Given the description of an element on the screen output the (x, y) to click on. 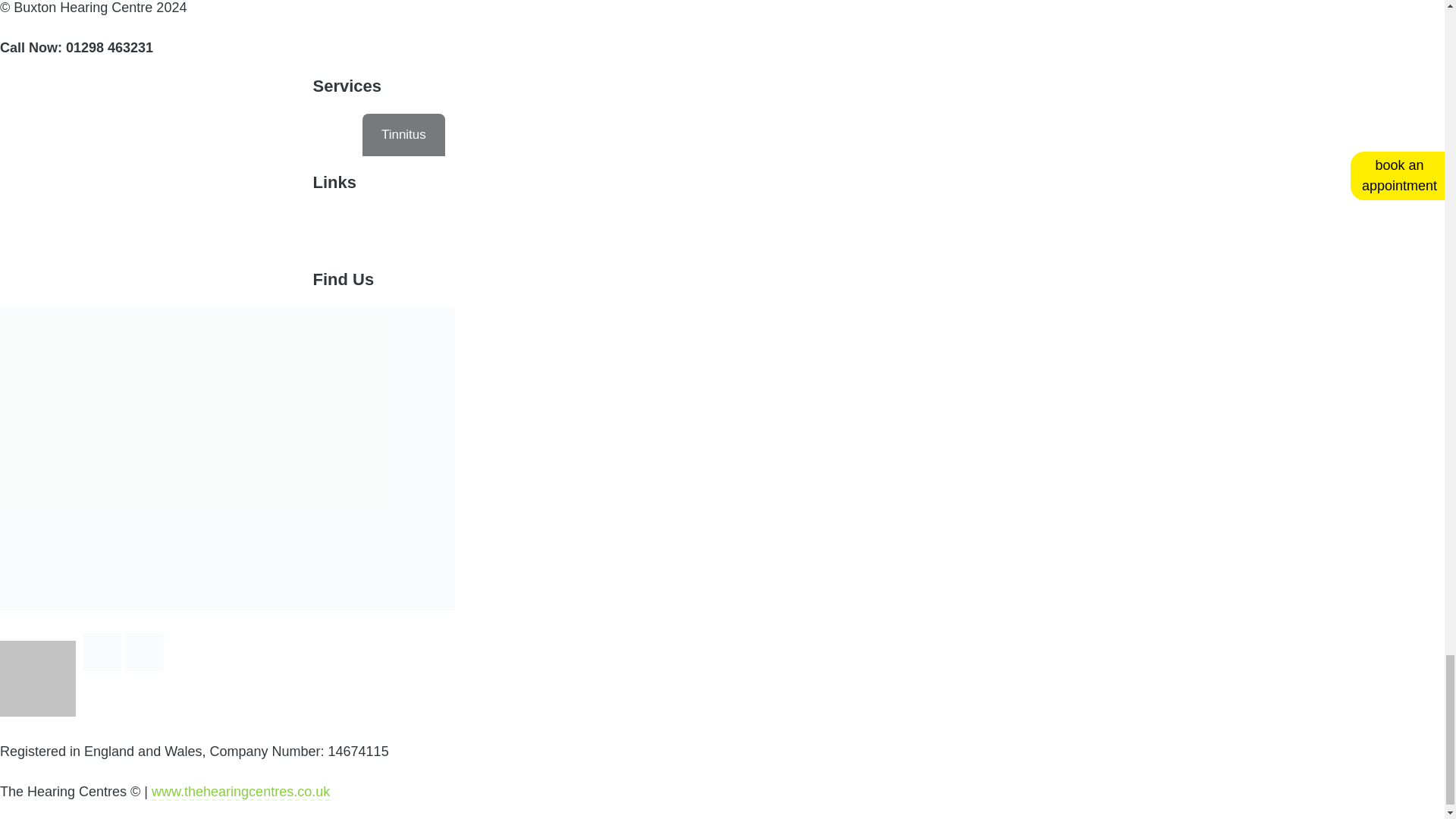
Site Map (568, 231)
Privacy Policy (465, 231)
About (118, 231)
Areas We Serve (219, 231)
Tinnitus (403, 135)
Noise Protection (705, 135)
Assistive Listening Devices (542, 135)
Hearing Aids (196, 135)
Contact (41, 231)
Privacy Notice (345, 231)
Hearing Test (306, 135)
Ear Wax Removal (70, 135)
